Given the description of an element on the screen output the (x, y) to click on. 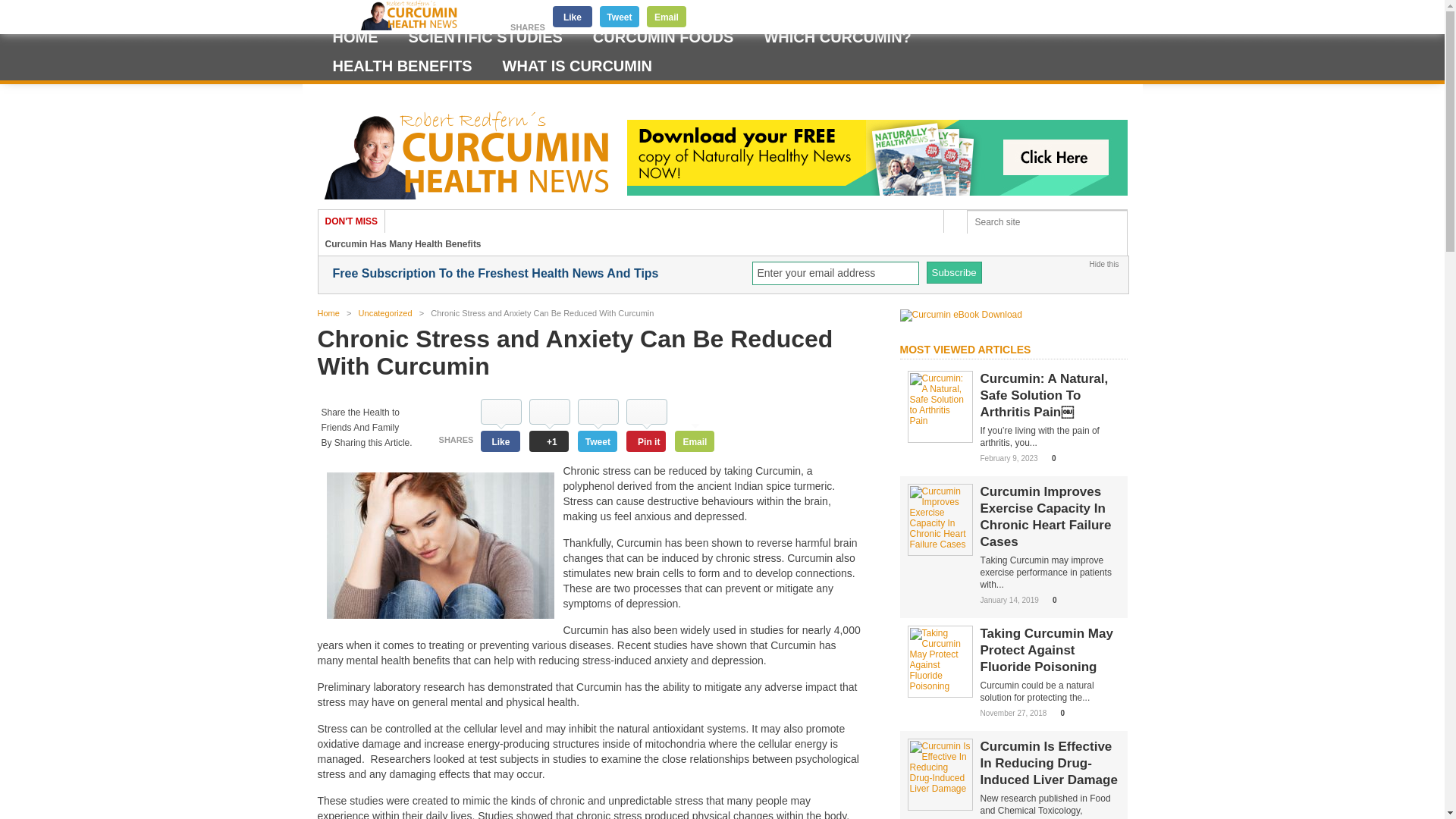
Enter your email address (835, 273)
HEALTH BENEFITS (401, 65)
NEWSLETTER (569, 11)
Taking Curcumin May Protect Against Fluoride Poisoning (940, 685)
TESTIMONIALS (395, 11)
Curcumin eBook Download (960, 314)
Curcumin Is Effective In Reducing Drug-Induced Liver Damage (940, 787)
CONTACT US (637, 11)
WHICH CURCUMIN? (837, 36)
SHARES (527, 28)
Email (665, 16)
SCIENTIFIC STUDIES (484, 36)
WHAT IS CURCUMIN (576, 65)
Search site (1047, 221)
